Given the description of an element on the screen output the (x, y) to click on. 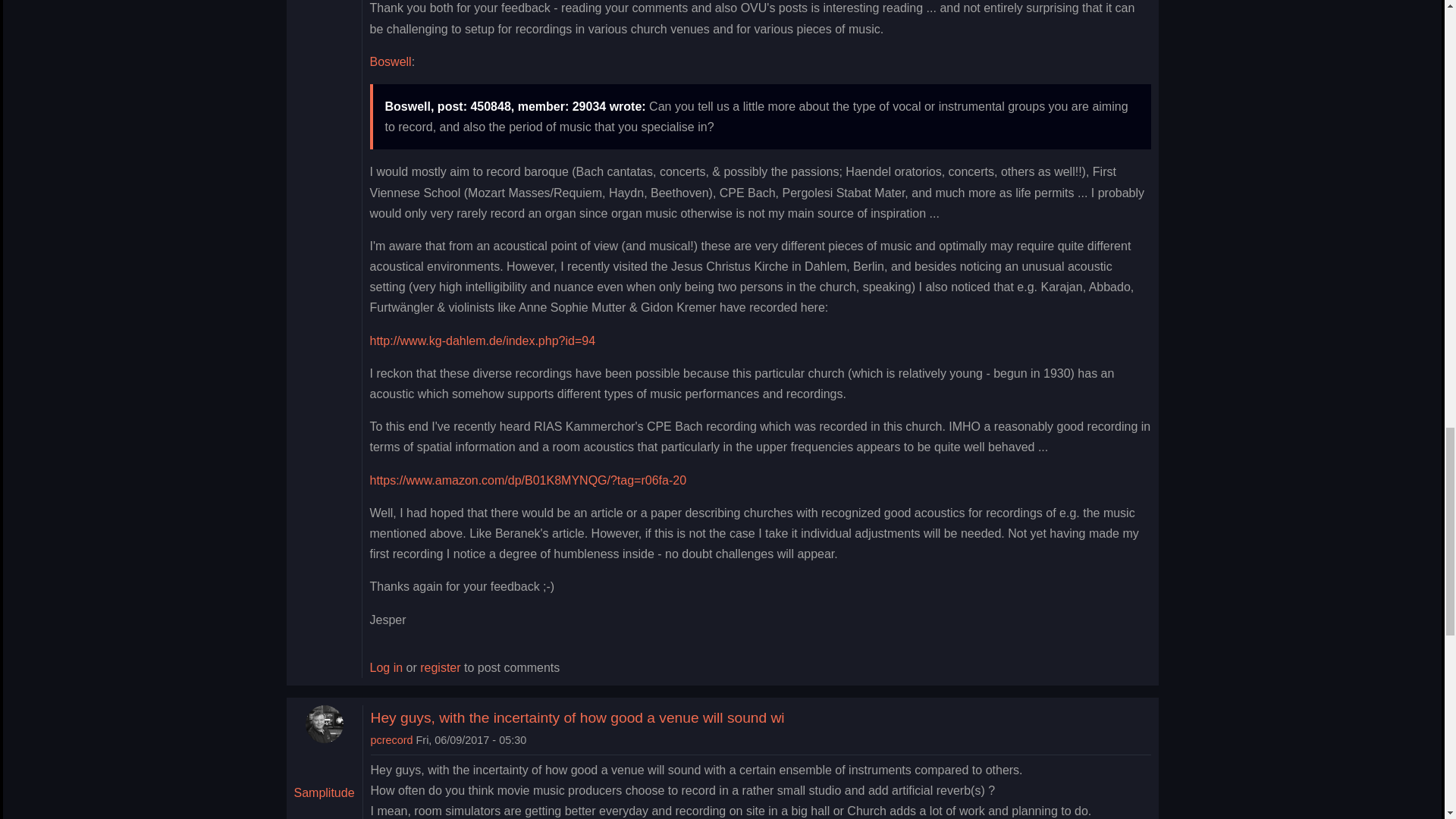
Boswell (390, 61)
View user profile. (392, 739)
Log in (386, 667)
